Given the description of an element on the screen output the (x, y) to click on. 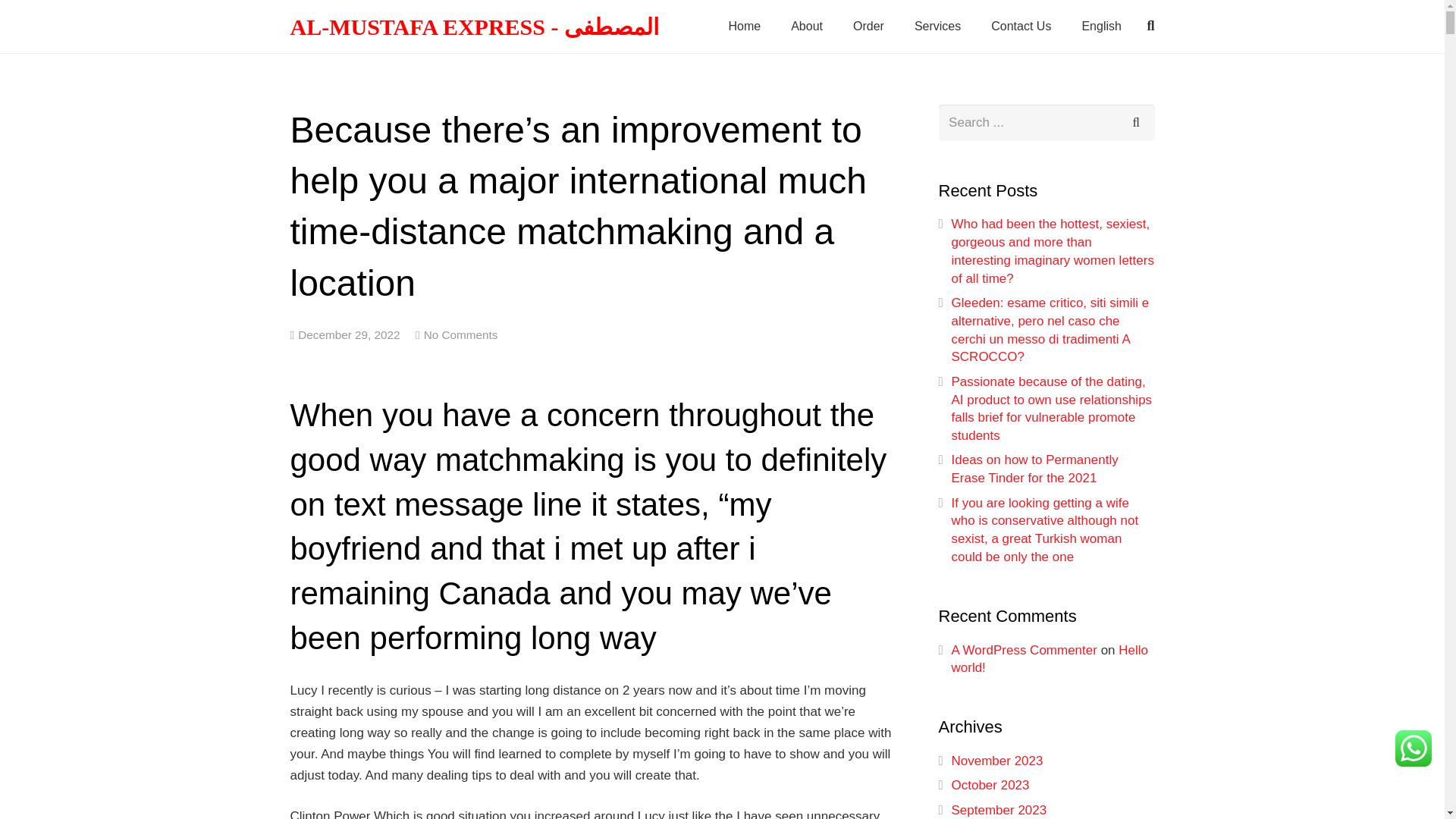
Order (868, 26)
November 2023 (996, 760)
Services (937, 26)
Ideas on how to Permanently Erase Tinder for the 2021 (1034, 468)
No Comments (460, 334)
Contact Us (1020, 26)
A WordPress Commenter (1023, 649)
September 2023 (998, 810)
About (807, 26)
Home (744, 26)
English (1100, 26)
